Given the description of an element on the screen output the (x, y) to click on. 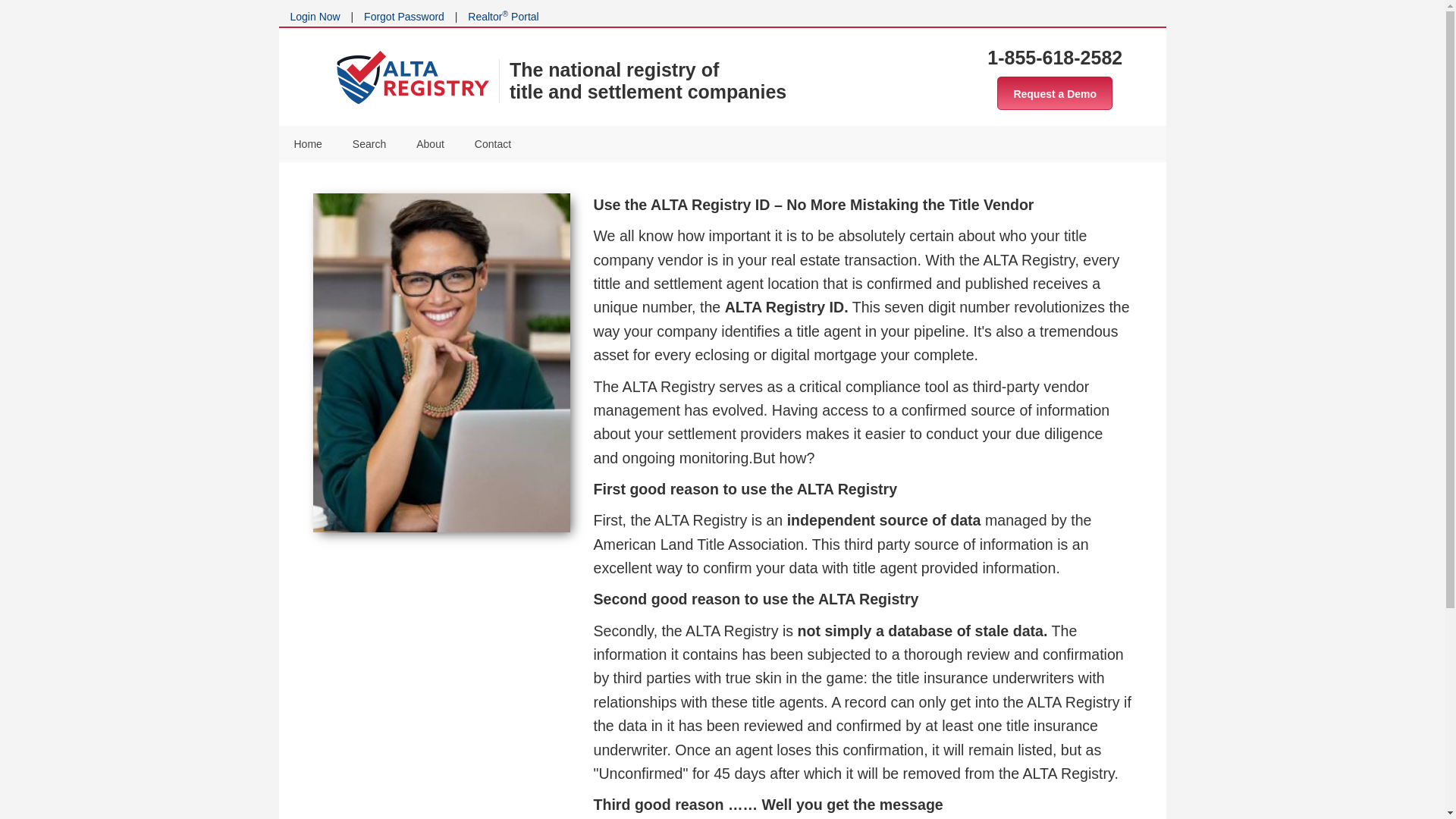
Request a Demo (1054, 92)
Home (308, 144)
Forgot Password (404, 16)
Contact (492, 144)
Search (369, 144)
Login Now (314, 16)
About (430, 144)
